Given the description of an element on the screen output the (x, y) to click on. 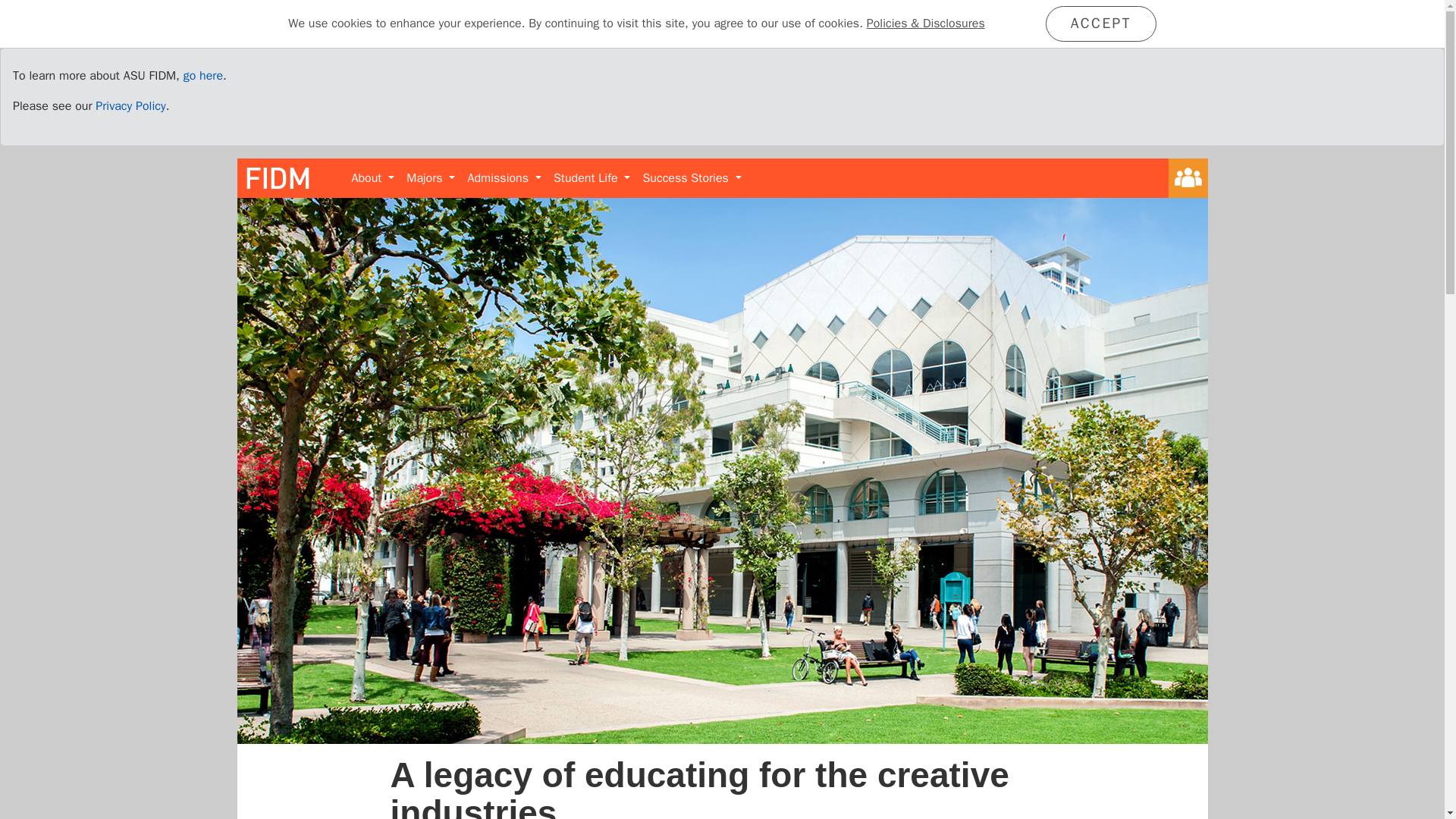
ASU FIDM Information (202, 75)
About (373, 177)
Please select your group (1187, 178)
Majors (430, 177)
Privacy Policy (130, 105)
go here (202, 75)
Admissions (504, 177)
FIDM Privacy Policy (130, 105)
ACCEPT (1100, 23)
